Given the description of an element on the screen output the (x, y) to click on. 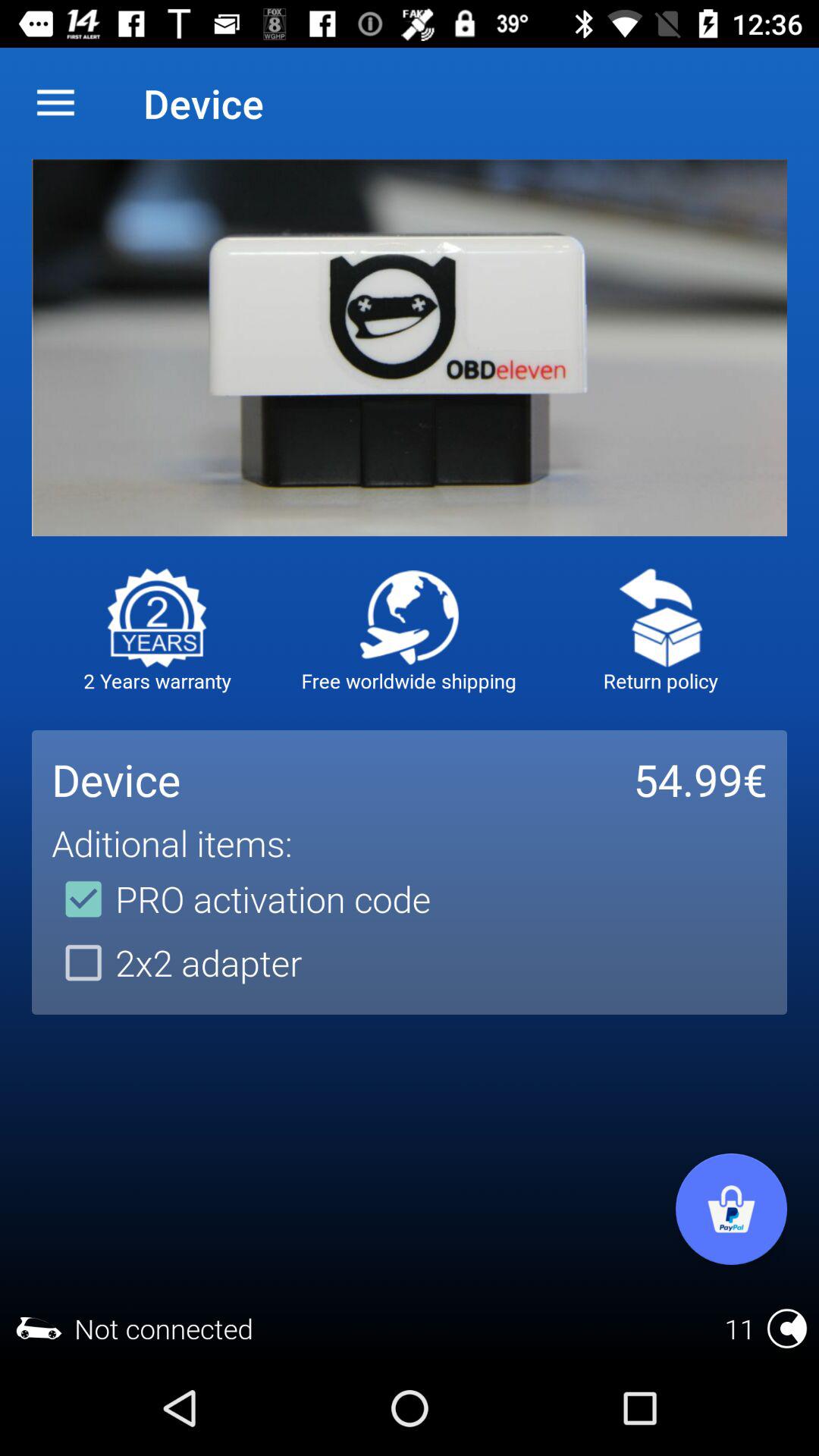
add to basket (731, 1208)
